Given the description of an element on the screen output the (x, y) to click on. 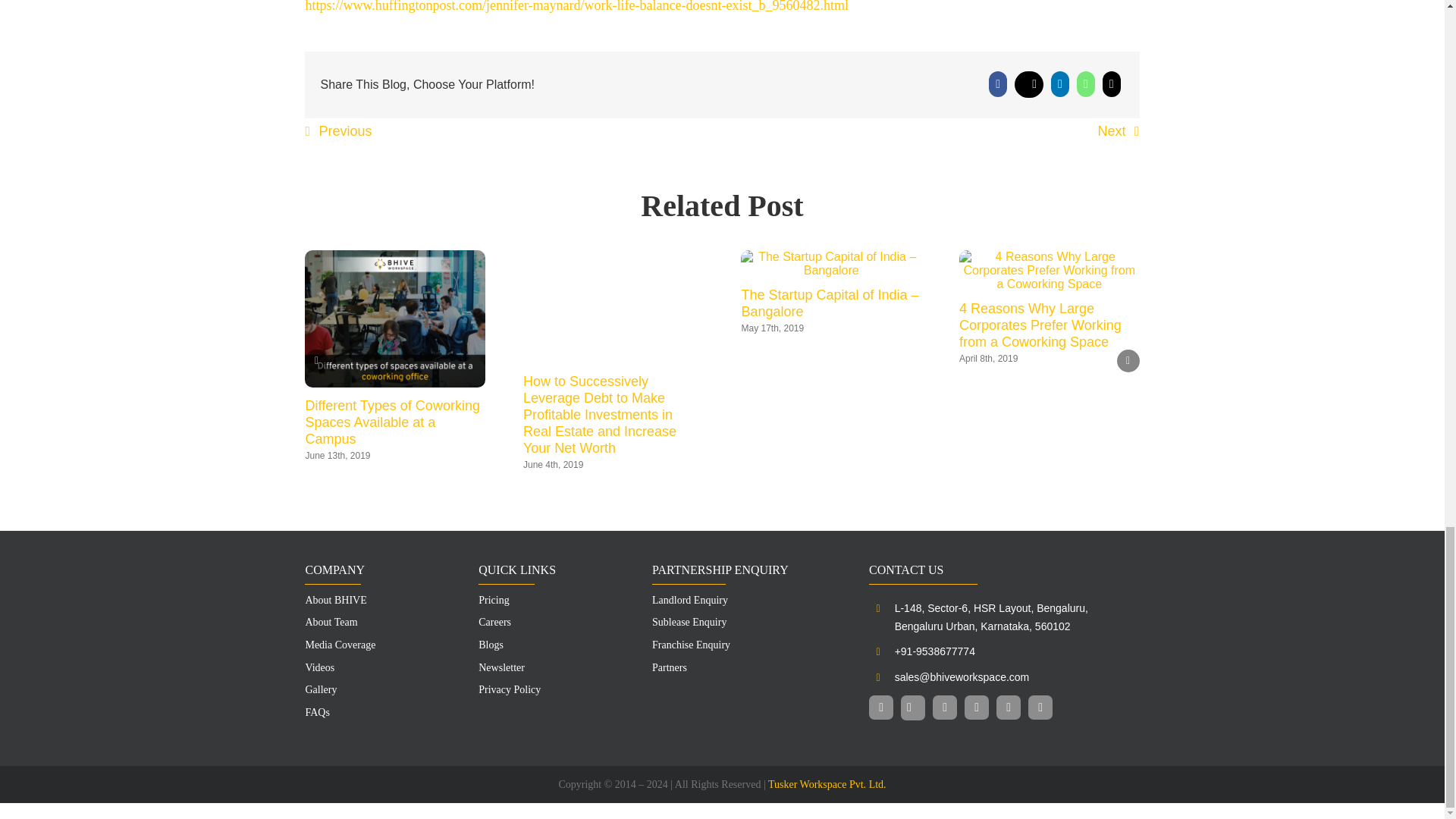
Facebook (881, 707)
X (1028, 84)
YouTube (975, 707)
Email (1111, 84)
X (912, 707)
Different Types of Coworking Spaces Available at a Campus (391, 422)
LinkedIn (1007, 707)
Facebook (997, 84)
WhatsApp (1086, 84)
Instagram (944, 707)
LinkedIn (1059, 84)
